Given the description of an element on the screen output the (x, y) to click on. 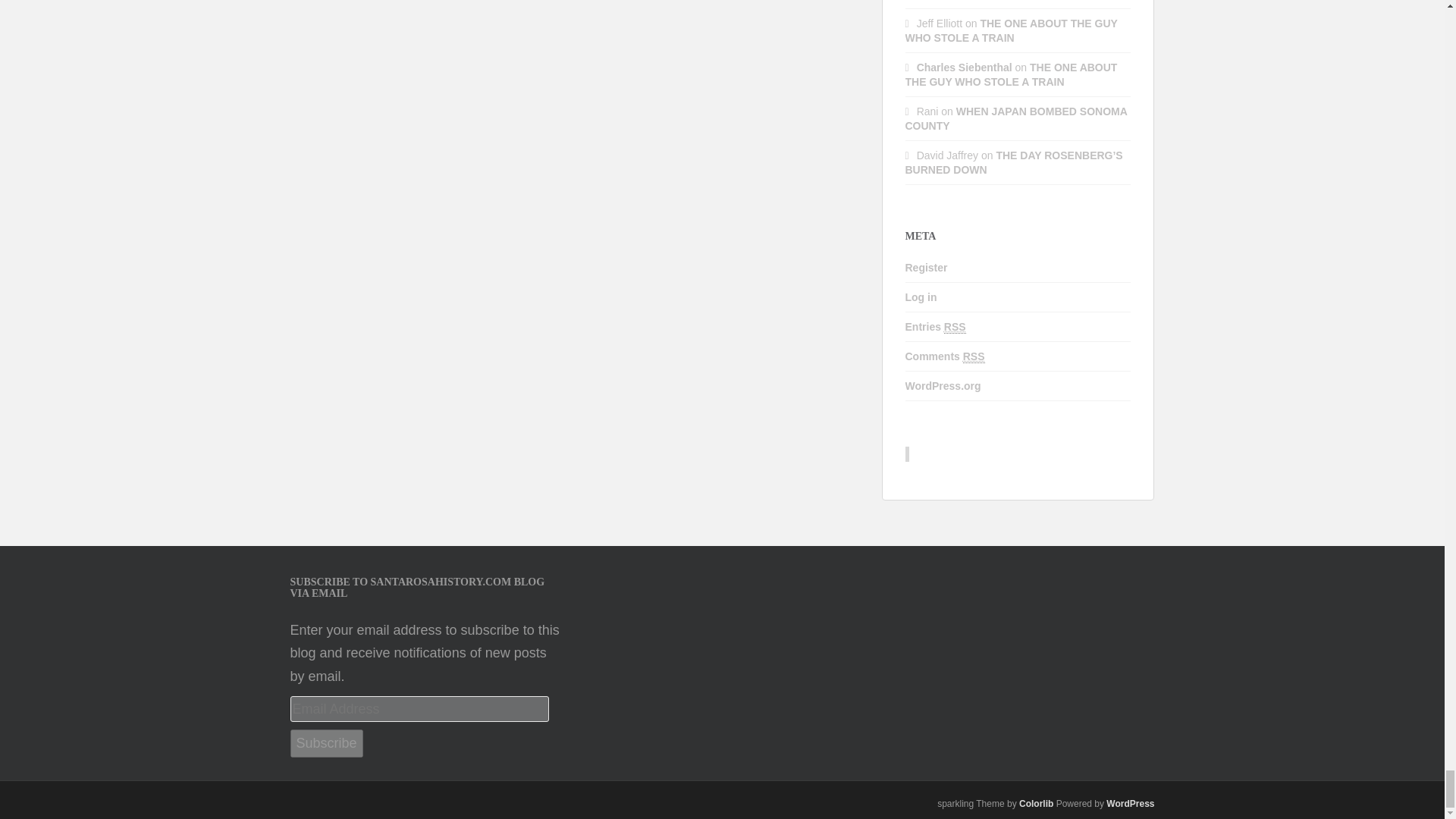
Really Simple Syndication (954, 327)
Subscribe (325, 743)
Really Simple Syndication (973, 356)
